Given the description of an element on the screen output the (x, y) to click on. 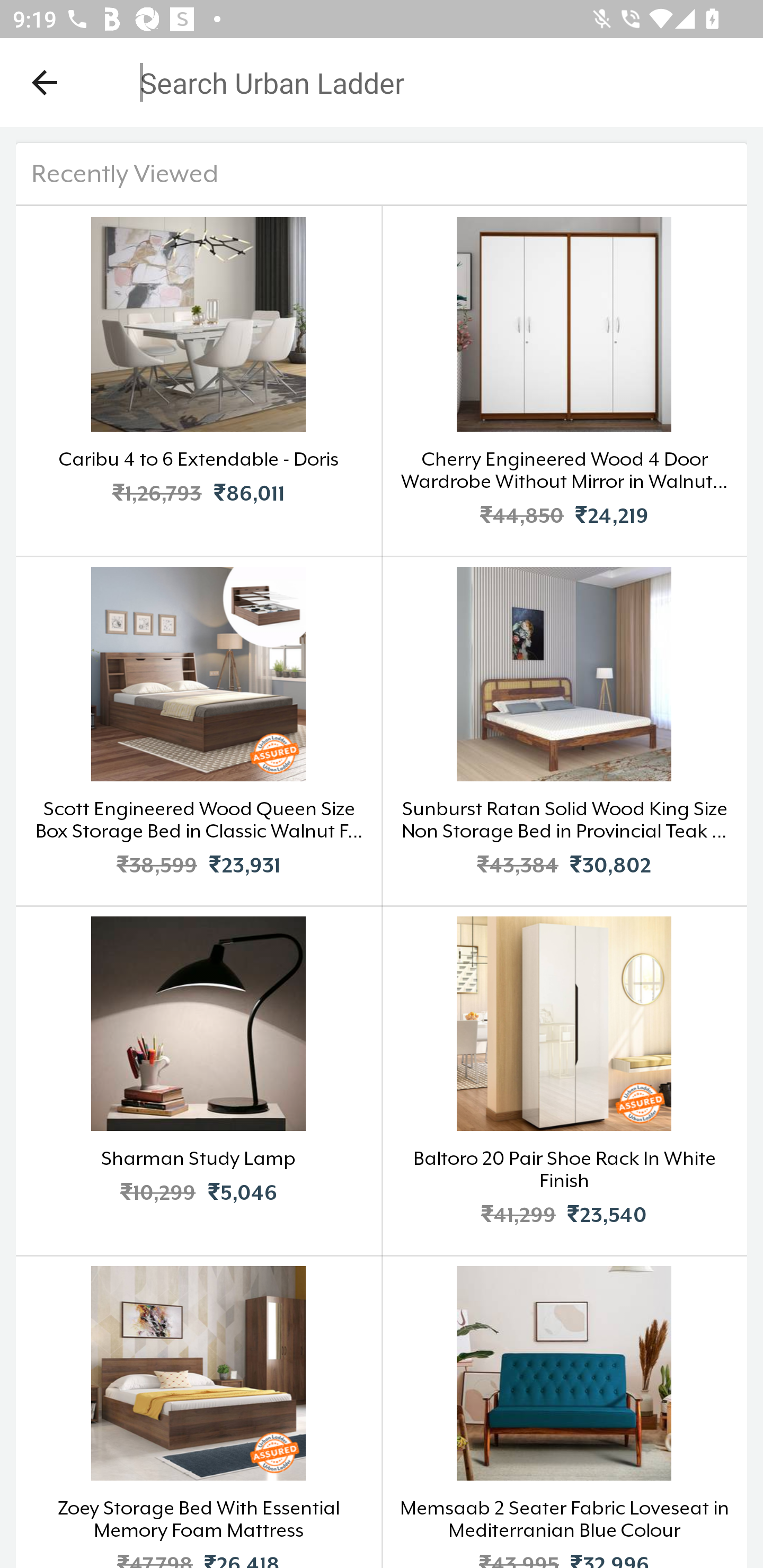
Collapse (44, 82)
Search Urban Ladder (368, 82)
Search Urban Ladder  (381, 159)
Caribu 4 to 6 Extendable - Doris ₹1,26,793 ₹86,011 (198, 379)
Sharman Study Lamp ₹10,299 ₹5,046 (198, 1079)
